Given the description of an element on the screen output the (x, y) to click on. 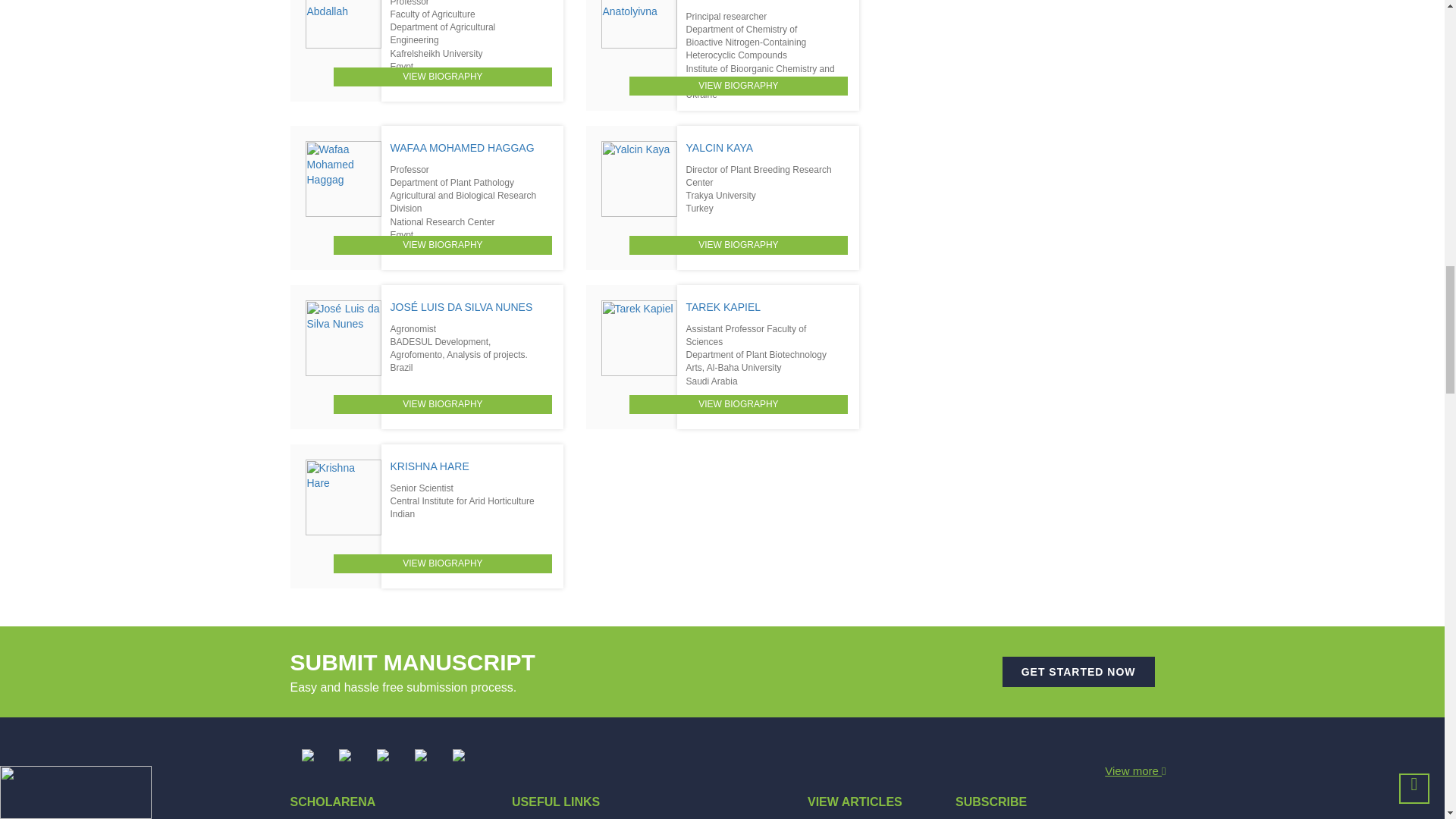
Said Elshahat Abdallah (342, 24)
Wafaa Mohamed Haggag (342, 178)
 Tsygankova Victoria Anatolyivna (638, 24)
